Given the description of an element on the screen output the (x, y) to click on. 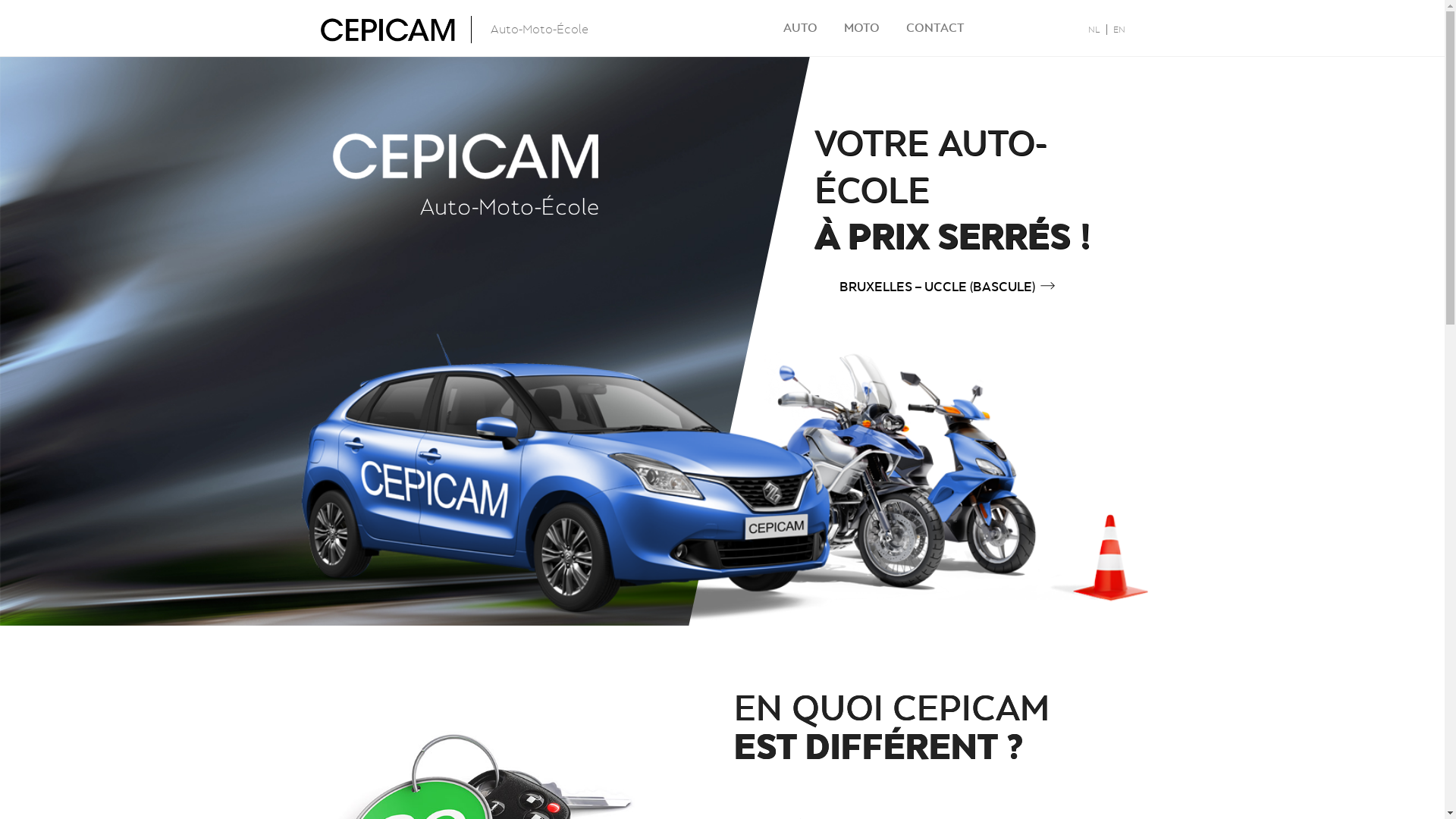
EN Element type: text (1116, 29)
MOTO Element type: text (860, 27)
AUTO Element type: text (799, 27)
NL Element type: text (1093, 29)
CONTACT Element type: text (934, 27)
